Given the description of an element on the screen output the (x, y) to click on. 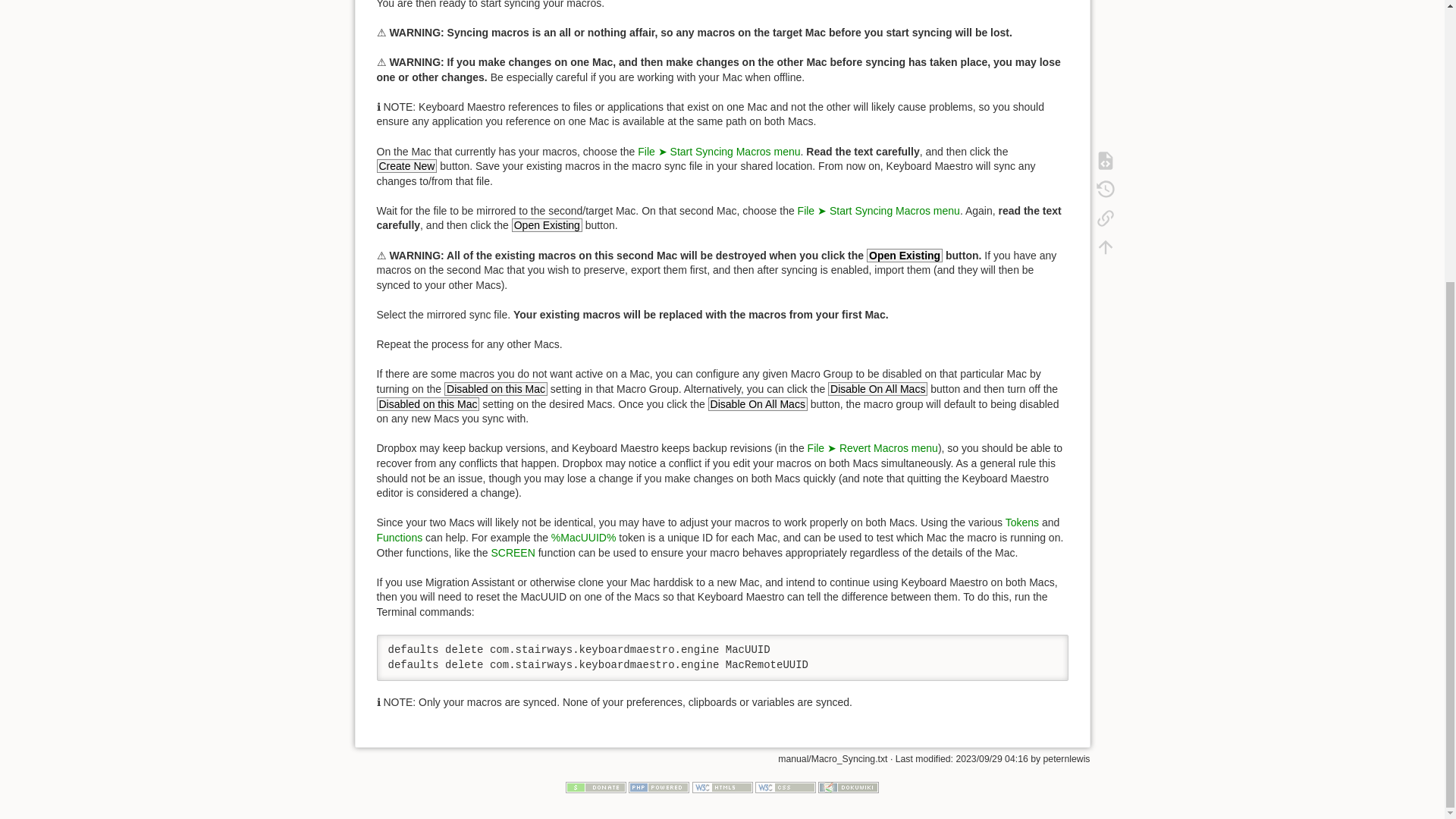
Functions (398, 537)
SCREEN (512, 552)
manual:Menus (718, 151)
manual:Menus (872, 448)
manual:Menus (878, 210)
Tokens (1022, 522)
